Given the description of an element on the screen output the (x, y) to click on. 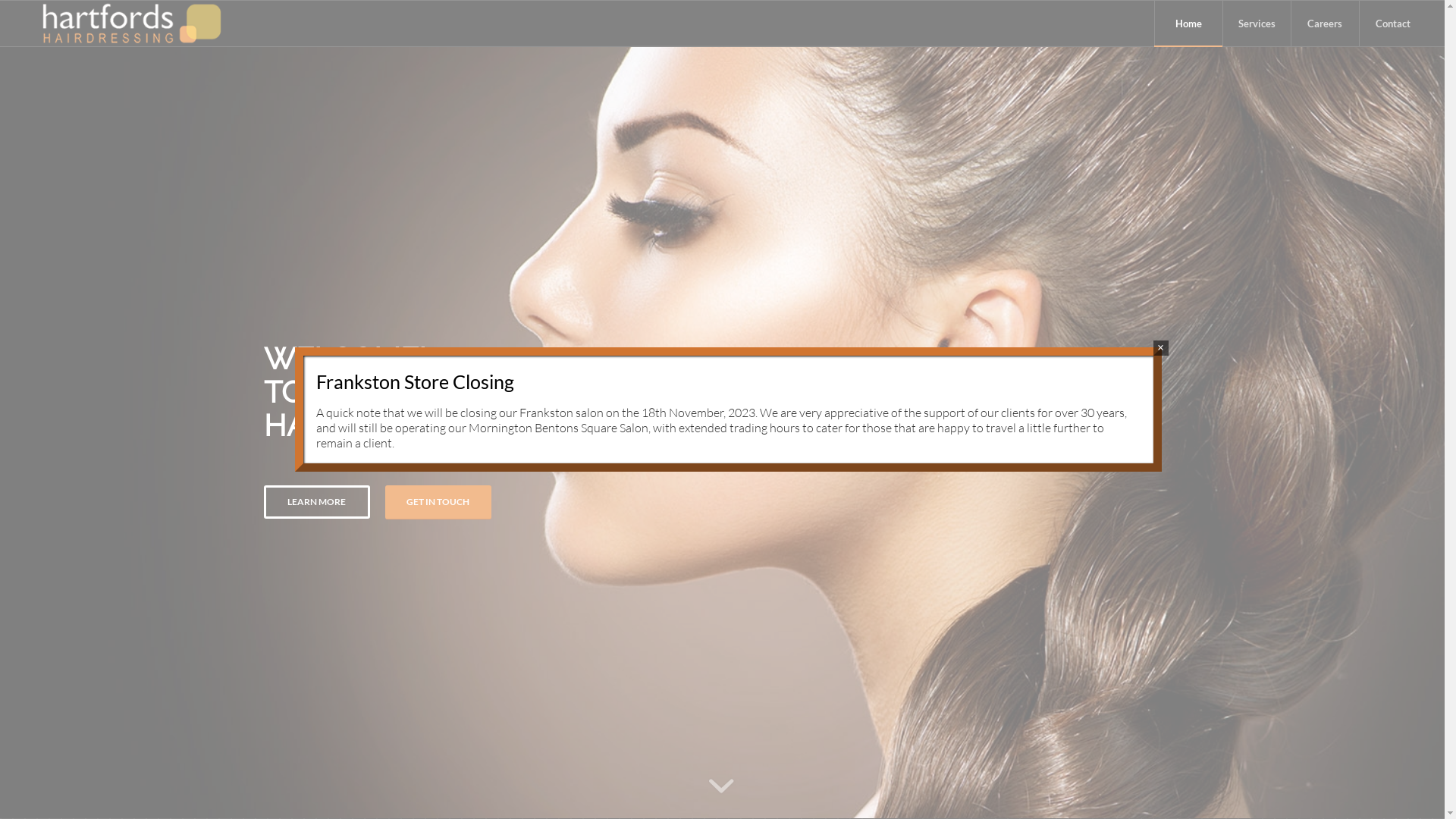
GET IN TOUCH Element type: text (438, 502)
LEARN MORE Element type: text (316, 501)
Services Element type: text (1256, 23)
Careers Element type: text (1324, 23)
Contact Element type: text (1392, 23)
Home Element type: text (1188, 23)
